Given the description of an element on the screen output the (x, y) to click on. 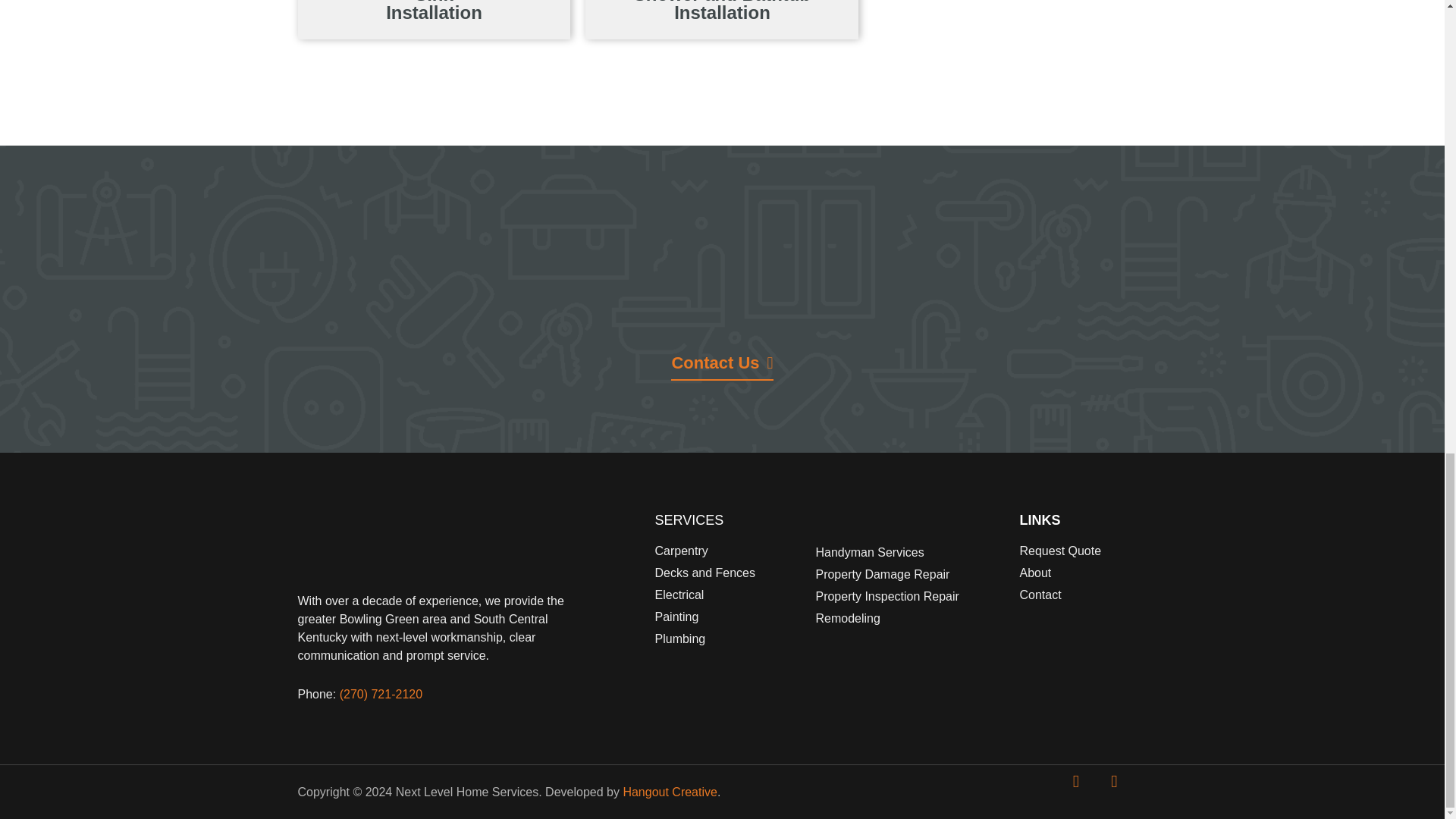
Carpentry (727, 551)
Plumbing (727, 638)
Painting (727, 617)
Property Damage Repair (909, 574)
Remodeling (909, 618)
Handyman Services (909, 552)
Contact (1082, 595)
Property Inspection Repair (909, 597)
Decks and Fences (727, 573)
Request Quote (1082, 551)
About (1082, 573)
Contact Us (722, 367)
Electrical (727, 595)
Hangout Creative (670, 791)
